Given the description of an element on the screen output the (x, y) to click on. 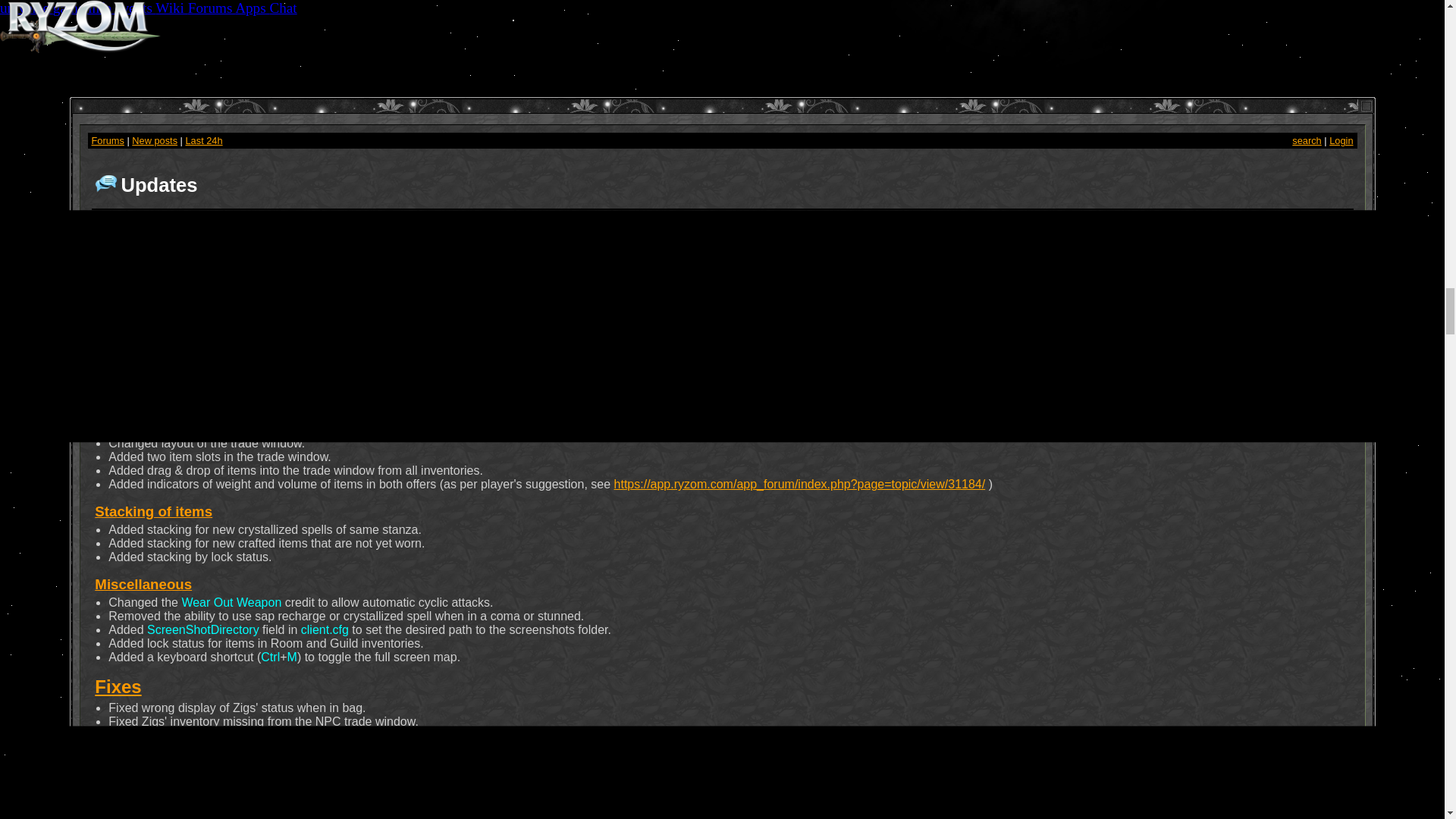
Login (1340, 140)
search (1306, 140)
New posts (154, 140)
Last 24h (203, 140)
Forums (106, 140)
